Given the description of an element on the screen output the (x, y) to click on. 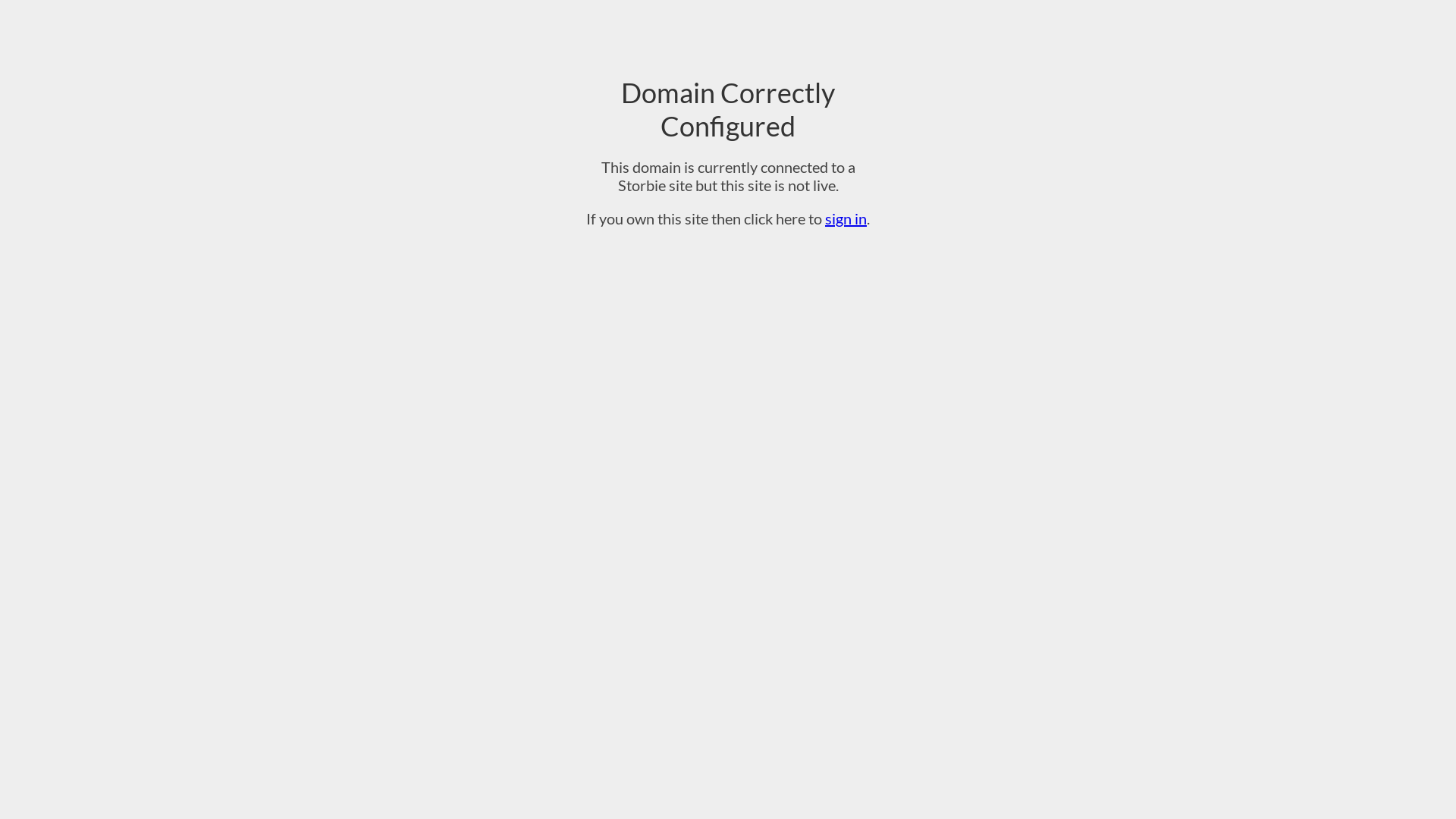
sign in Element type: text (845, 218)
